Given the description of an element on the screen output the (x, y) to click on. 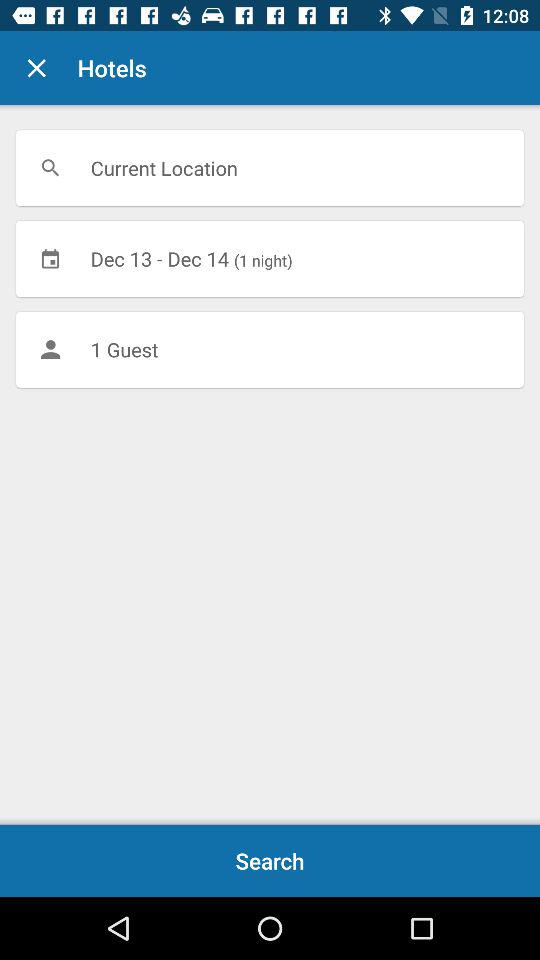
jump to 1 guest (269, 349)
